Given the description of an element on the screen output the (x, y) to click on. 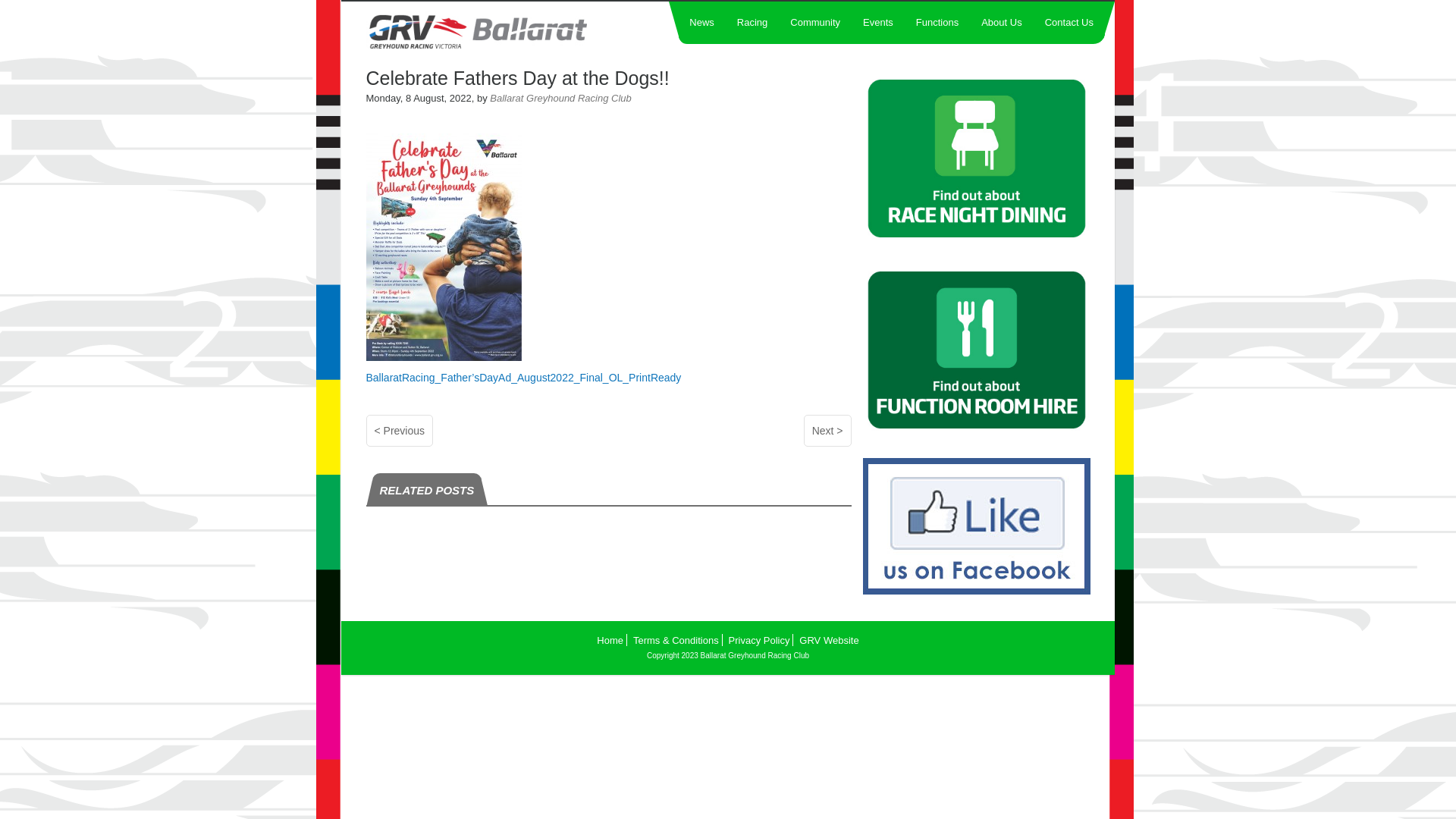
Events Element type: text (877, 22)
GRV Website Element type: text (828, 640)
  Element type: hover (976, 590)
Terms & Conditions Element type: text (675, 640)
Functions Element type: text (936, 22)
Privacy Policy Element type: text (759, 640)
tweet Element type: text (380, 465)
Home Element type: text (609, 640)
About Us Element type: text (1000, 22)
News Element type: text (701, 22)
Racing Element type: text (751, 22)
Next > Element type: text (827, 430)
  Element type: hover (976, 238)
Celebrate Fathers Day at the Dogs!! Element type: text (516, 77)
Contact Us Element type: text (1068, 22)
< Previous Element type: text (399, 430)
tweet Element type: text (380, 110)
Ballarat Greyhound Racing Club Element type: hover (504, 31)
Community Element type: text (814, 22)
  Element type: hover (976, 429)
